Given the description of an element on the screen output the (x, y) to click on. 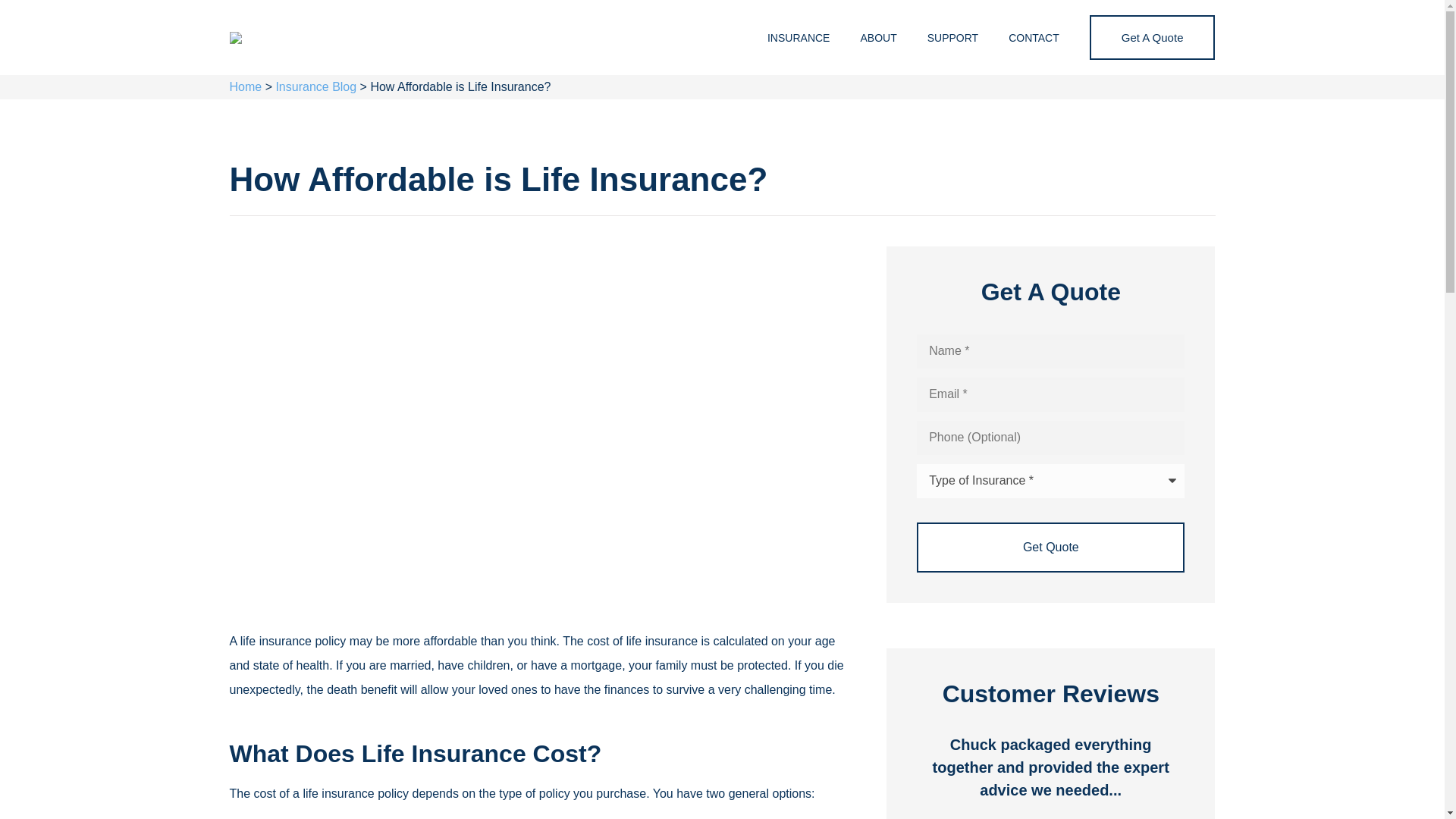
Get Quote (1051, 547)
SUPPORT (952, 36)
INSURANCE (798, 36)
ABOUT (877, 36)
Highline-Risk-Solutions-logo-color (234, 37)
